Given the description of an element on the screen output the (x, y) to click on. 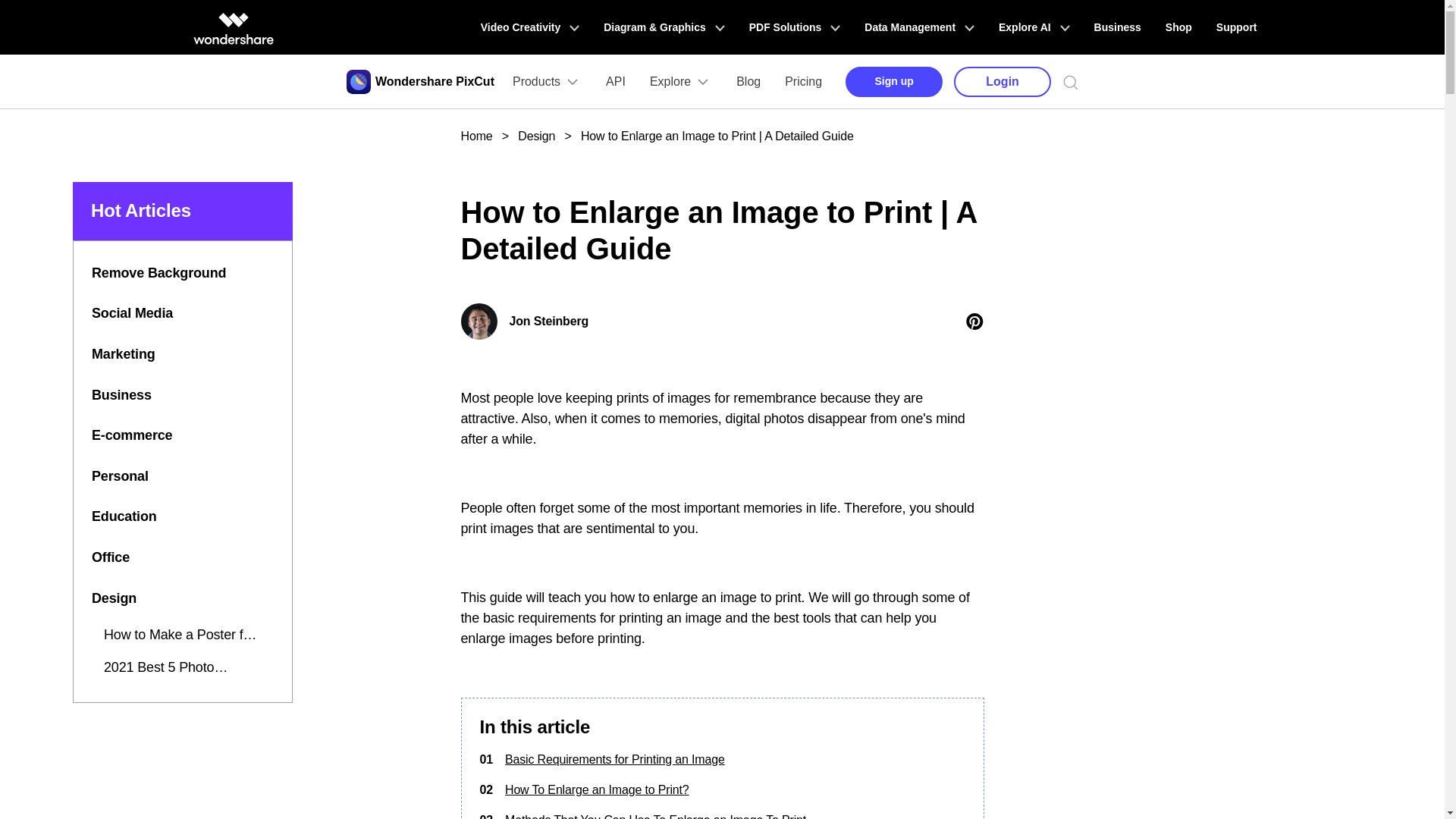
Business (1117, 27)
PDF Solutions (794, 27)
Explore AI (1034, 27)
Video Creativity (529, 27)
Data Management (919, 27)
